Given the description of an element on the screen output the (x, y) to click on. 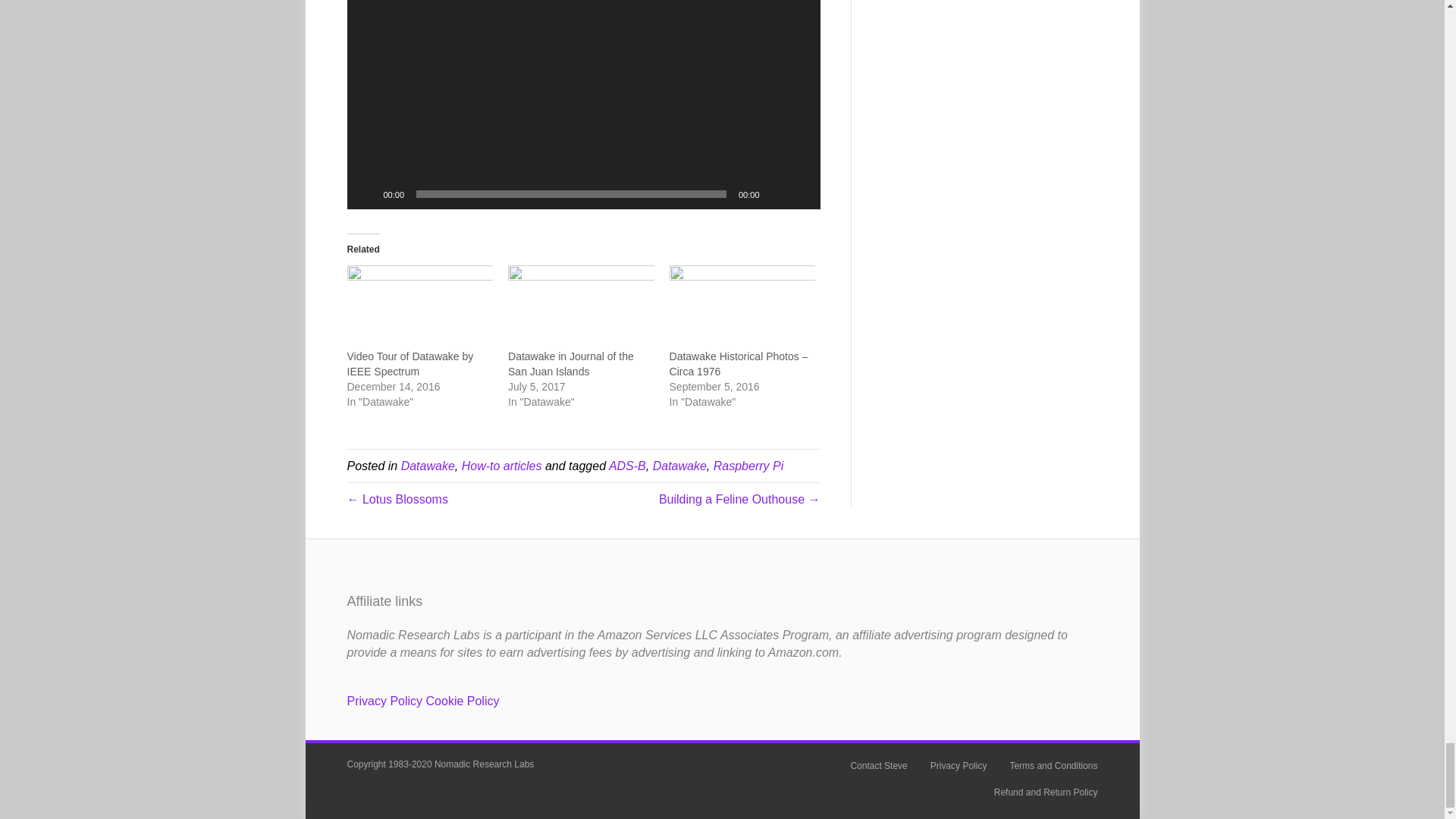
Privacy Policy  (385, 700)
Fullscreen (800, 193)
Datawake in Journal of the San Juan Islands (570, 363)
Video Tour of Datawake by IEEE Spectrum (420, 306)
Video Tour of Datawake by IEEE Spectrum (410, 363)
Play (366, 193)
Datawake in Journal of the San Juan Islands (580, 306)
Cookie Policy  (462, 700)
Mute (776, 193)
